Given the description of an element on the screen output the (x, y) to click on. 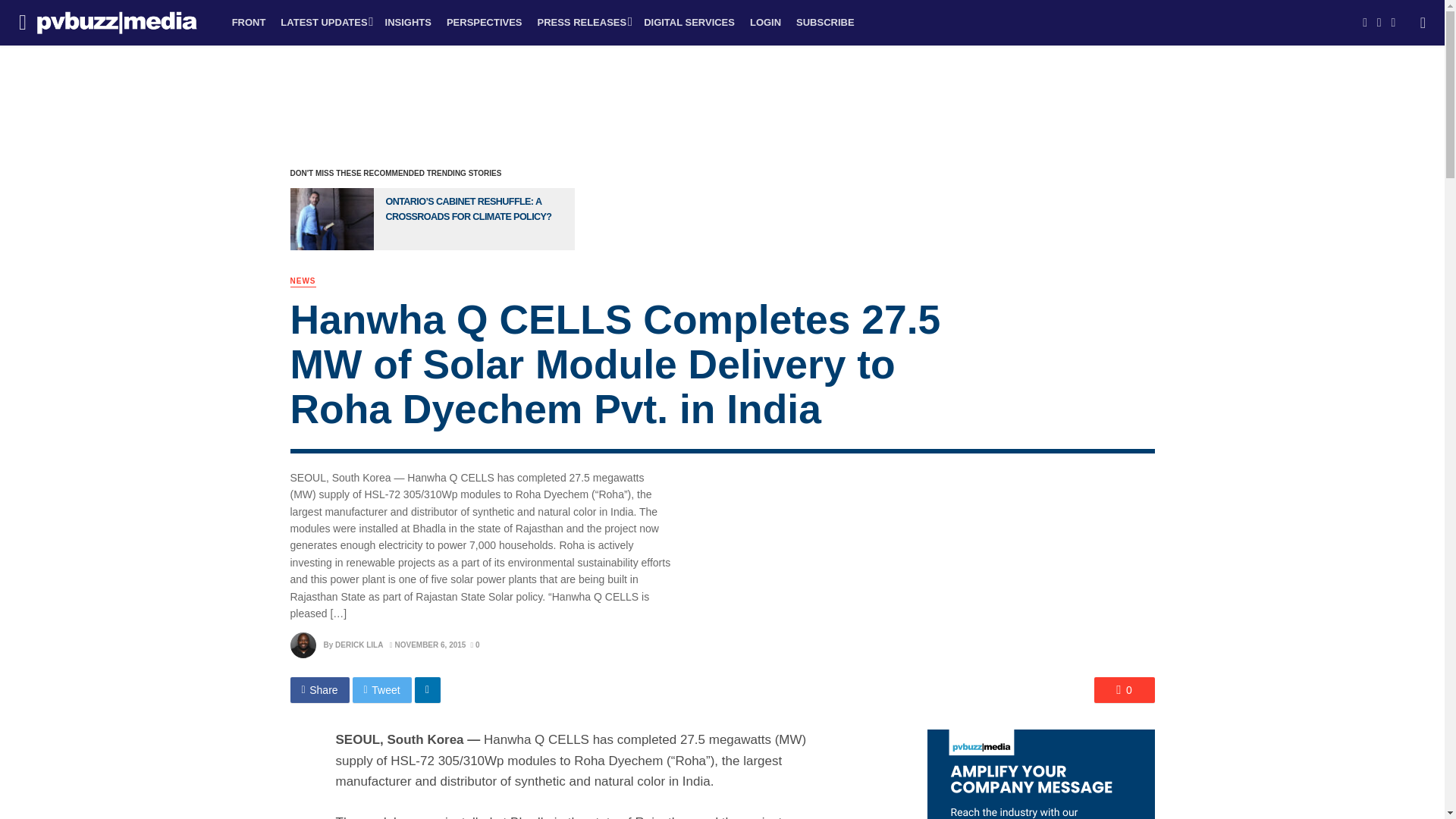
Posts by Derick Lila (358, 644)
Share on Twitter (382, 689)
0 (474, 644)
Share on Linkedin (427, 689)
NEWS (302, 281)
Share on Facebook (319, 689)
LOGIN (765, 22)
0 Comments (474, 644)
INSIGHTS (408, 22)
DERICK LILA (358, 644)
PRESS RELEASES (583, 22)
PERSPECTIVES (484, 22)
DIGITAL SERVICES (689, 22)
November 6, 2015 at 1:14 pm (427, 644)
LATEST UPDATES (325, 22)
